Given the description of an element on the screen output the (x, y) to click on. 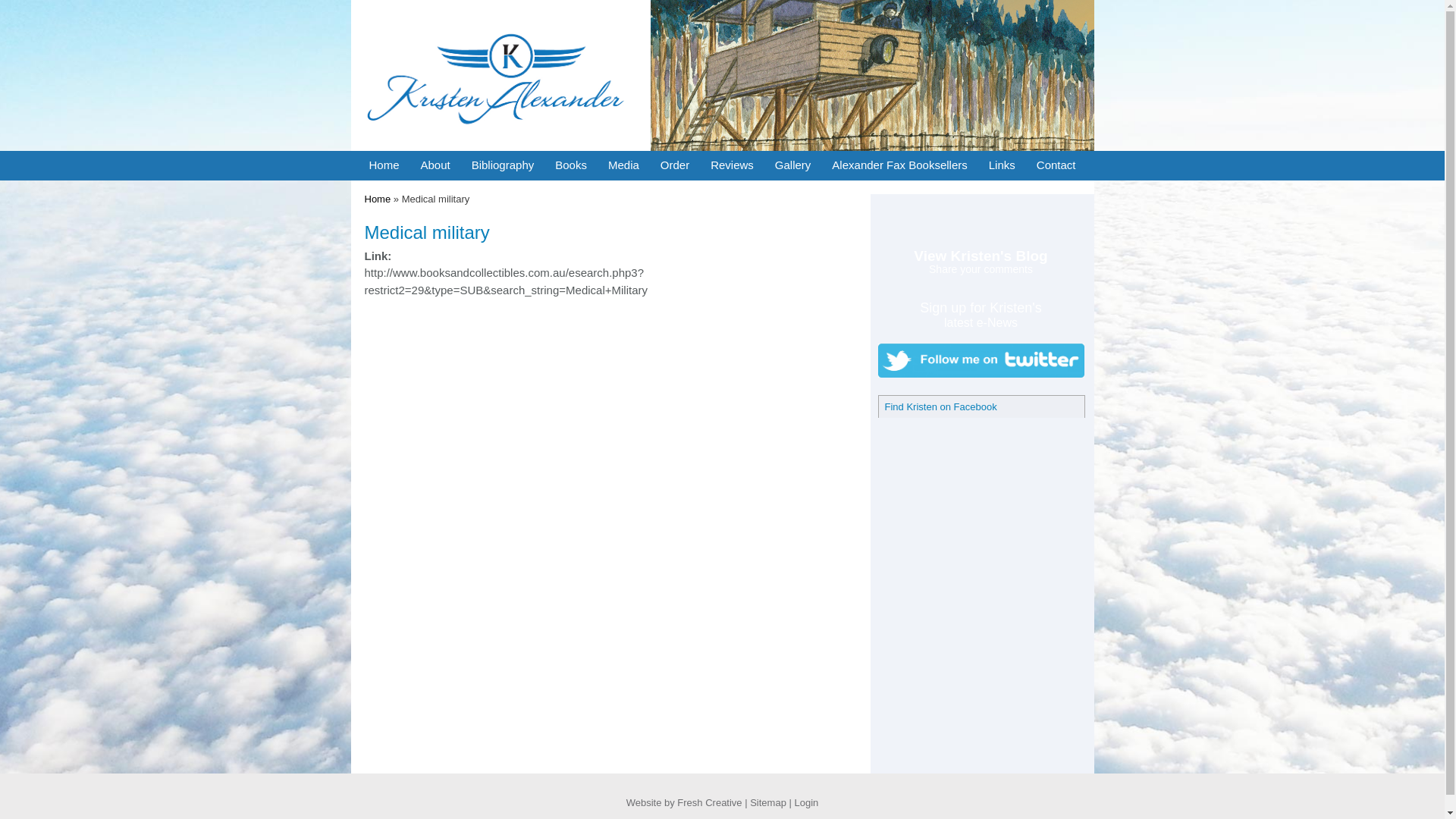
Contact Element type: text (1056, 164)
Sign up for Kristen's
latest e-News Element type: text (981, 312)
Login Element type: text (806, 802)
Links Element type: text (1002, 164)
Fresh Creative Element type: text (709, 802)
View Kristen's Blog
Share your comments Element type: text (981, 262)
Sitemap Element type: text (767, 802)
-A Element type: text (883, 218)
Home Element type: hover (499, 146)
+A Element type: text (903, 218)
Gallery Element type: text (793, 164)
Home Element type: text (377, 198)
Home Element type: text (383, 164)
Books Element type: text (570, 164)
Search Element type: text (1004, 220)
Bibliography Element type: text (503, 164)
Enter the terms you wish to search for. Element type: hover (940, 219)
Media Element type: text (623, 164)
Alexander Fax Booksellers Element type: text (899, 164)
About Element type: text (434, 164)
Order Element type: text (674, 164)
Reviews Element type: text (731, 164)
